Given the description of an element on the screen output the (x, y) to click on. 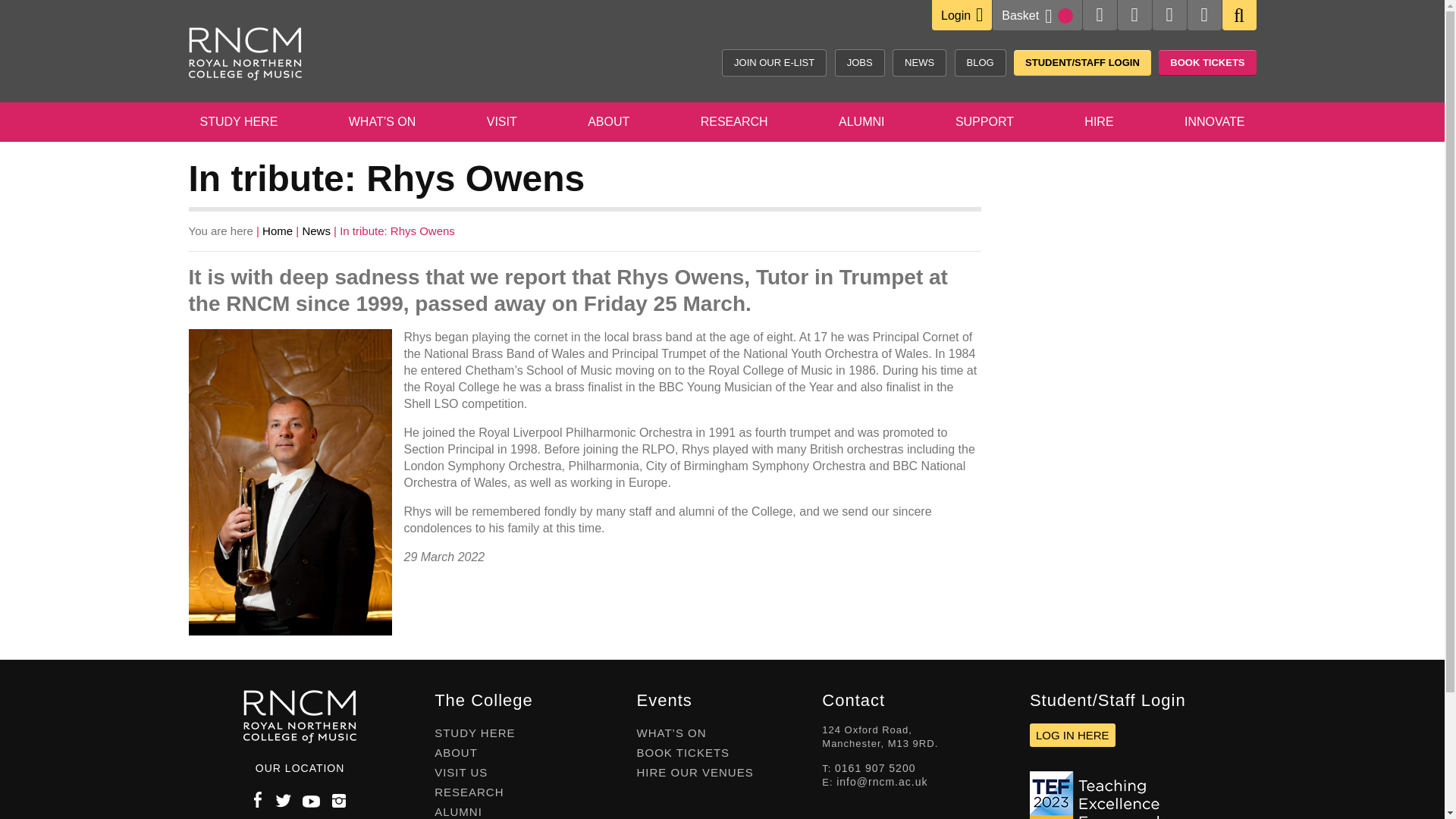
Basket (1036, 15)
NEWS (919, 62)
Login (961, 14)
BOOK TICKETS (1206, 62)
STUDY HERE (238, 123)
JOIN OUR E-LIST (774, 62)
JOBS (859, 62)
BLOG (980, 62)
